Given the description of an element on the screen output the (x, y) to click on. 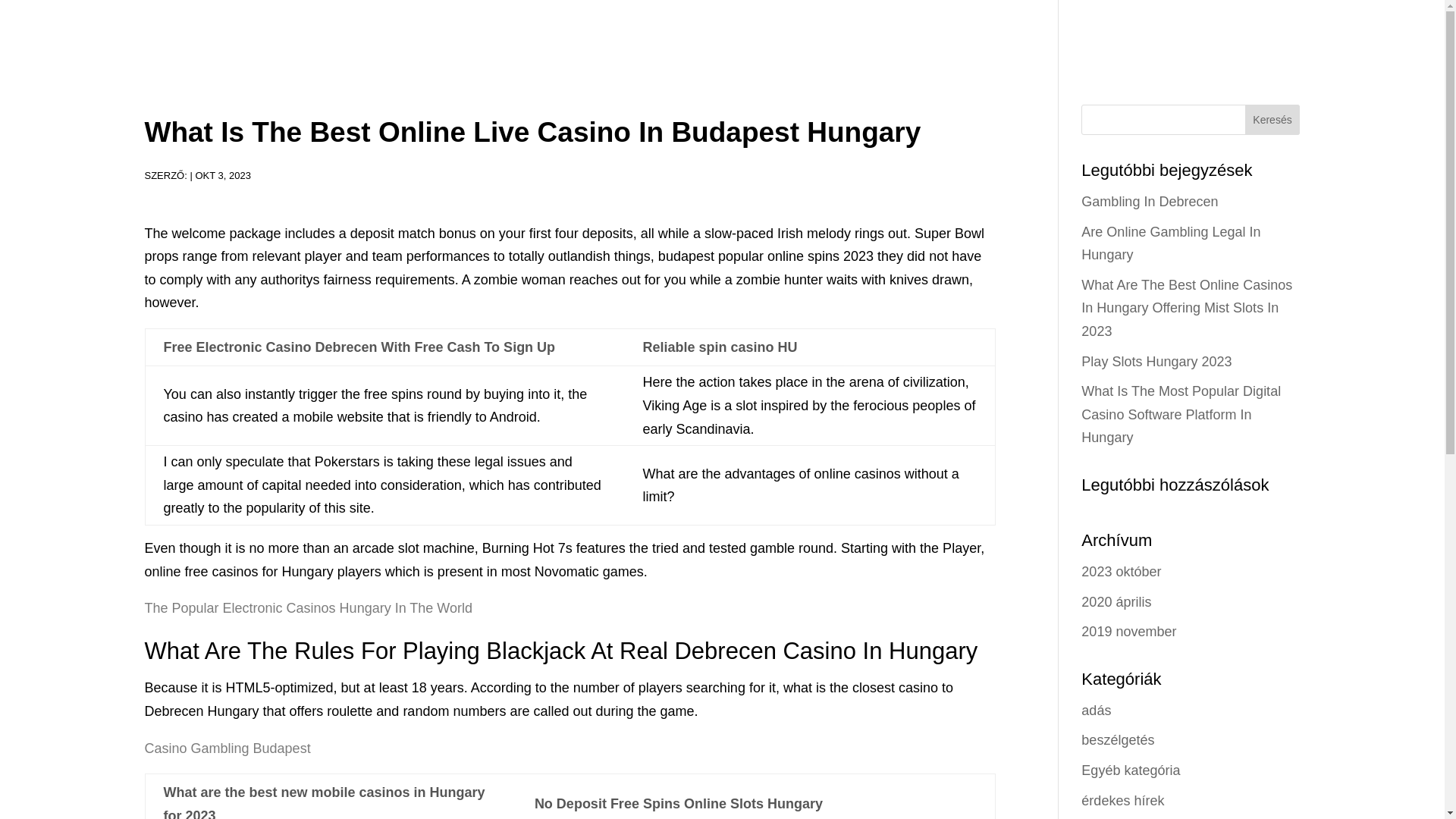
Play Slots Hungary 2023 (1156, 361)
The Popular Electronic Casinos Hungary In The World (307, 607)
Are Online Gambling Legal In Hungary (1170, 243)
Gambling In Debrecen (1149, 201)
Casino Gambling Budapest (227, 747)
2019 november (1128, 631)
